Given the description of an element on the screen output the (x, y) to click on. 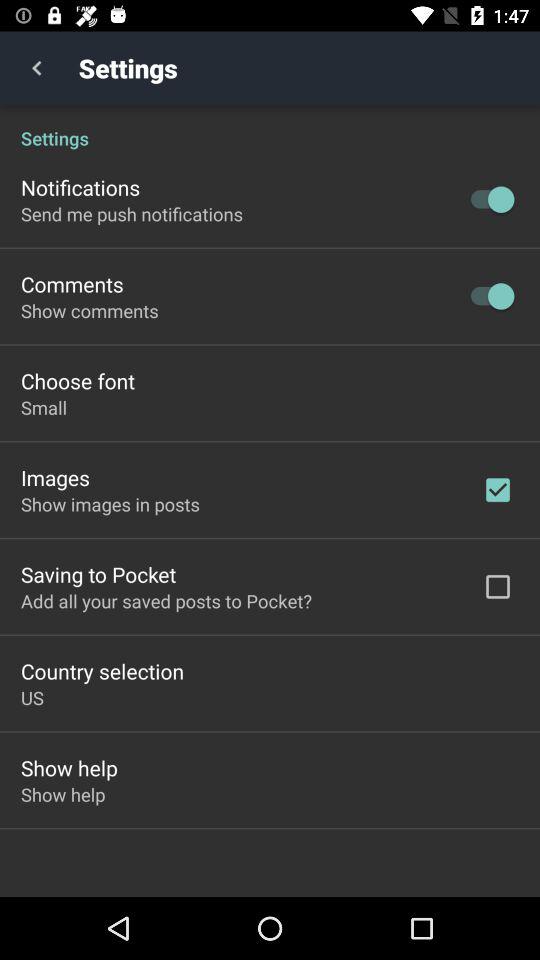
launch item next to the settings item (36, 68)
